Given the description of an element on the screen output the (x, y) to click on. 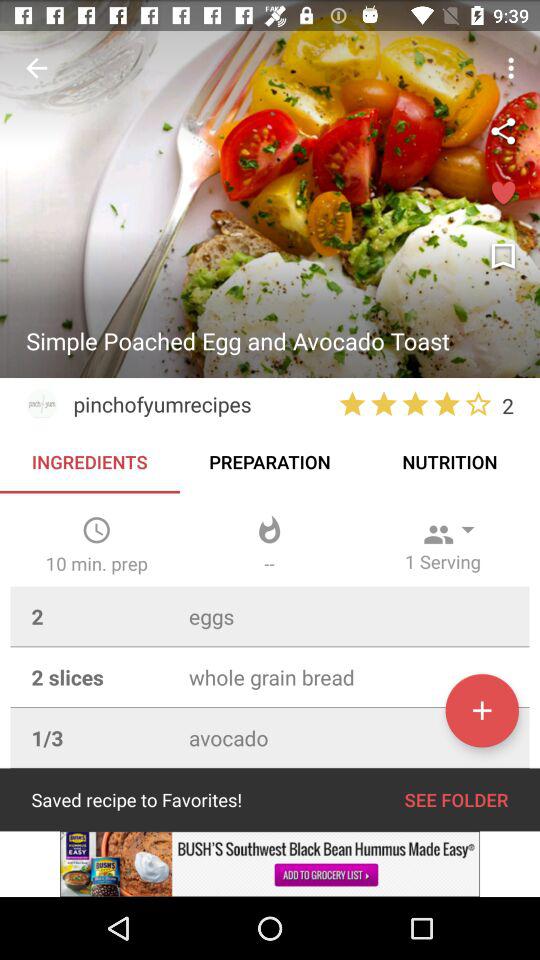
favorite (503, 194)
